Given the description of an element on the screen output the (x, y) to click on. 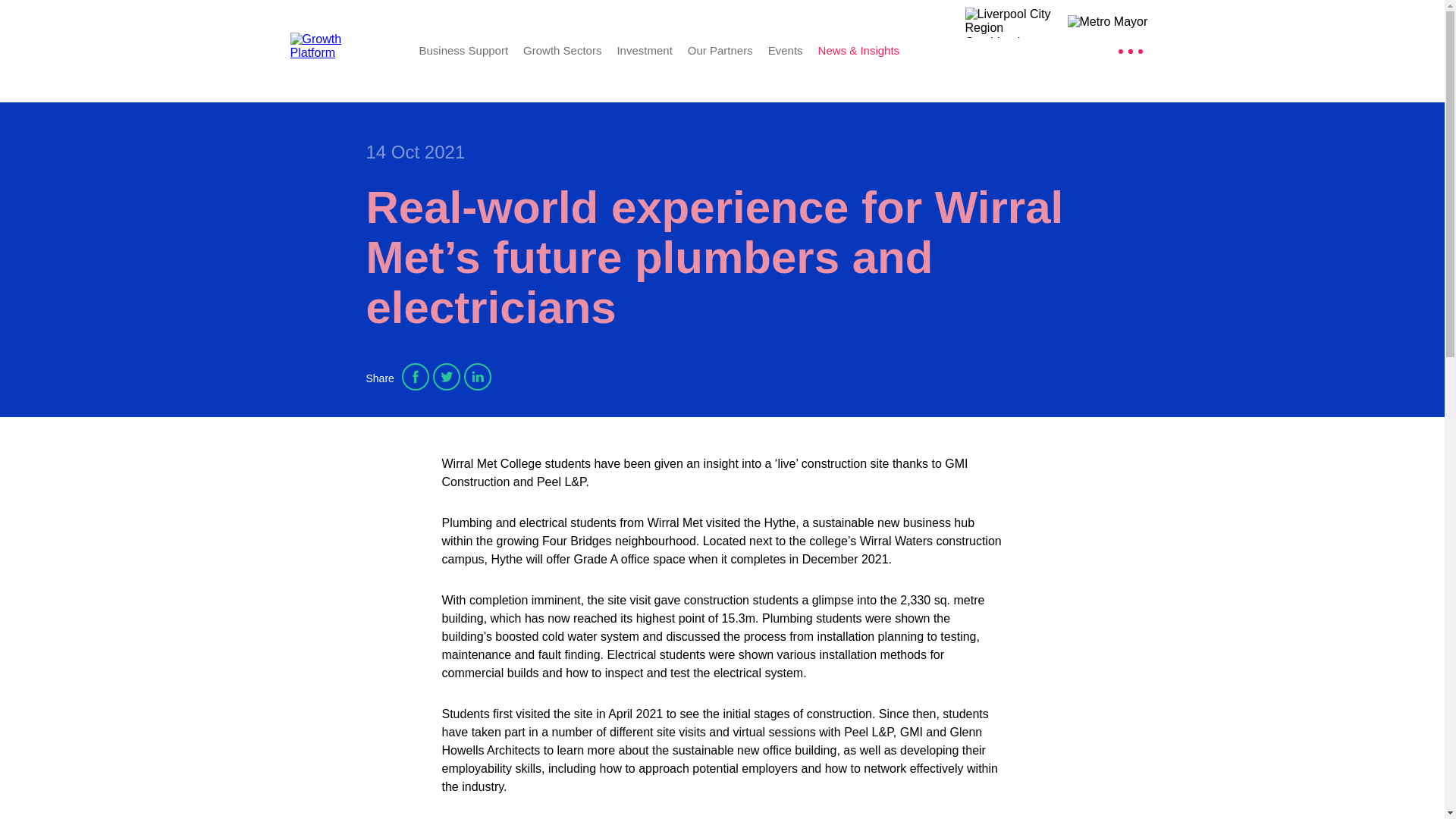
Our Partners (719, 50)
Investment (643, 50)
Growth Sectors (561, 50)
Business Support (463, 50)
Go to Growth Platform homepage (342, 50)
